Given the description of an element on the screen output the (x, y) to click on. 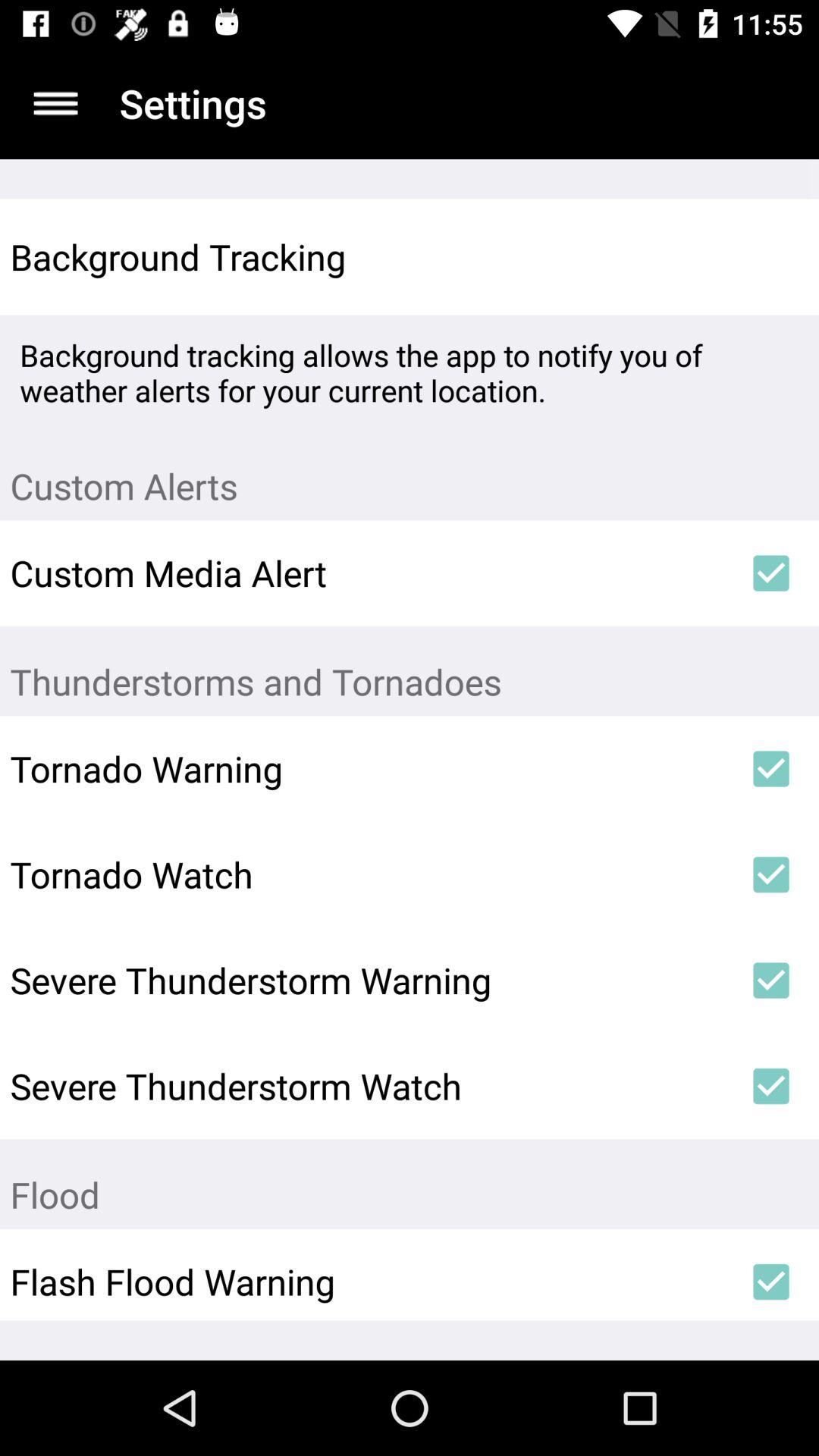
select the item next to severe thunderstorm warning icon (771, 980)
